Given the description of an element on the screen output the (x, y) to click on. 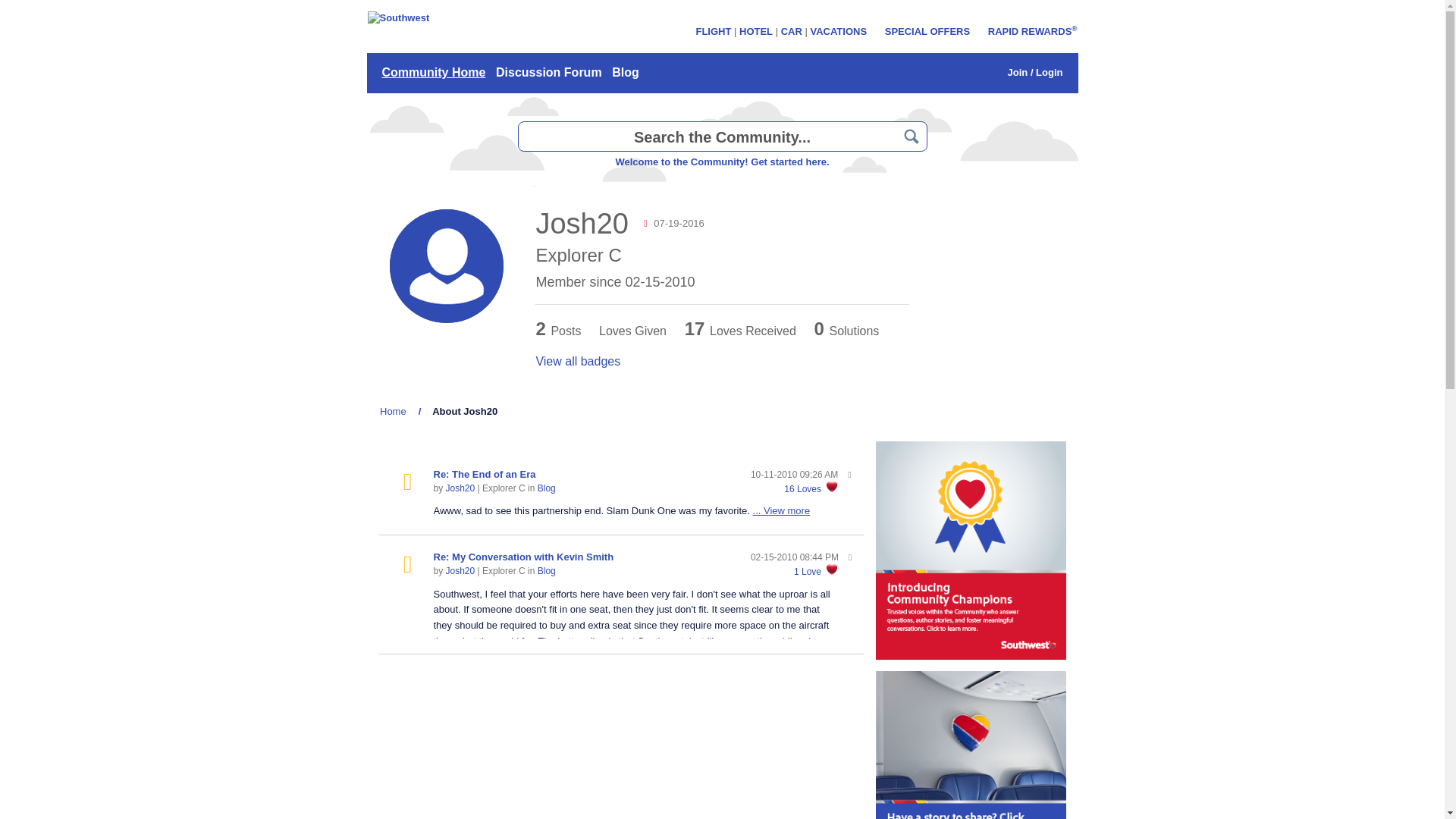
Search (911, 136)
... View more (781, 510)
VACATIONS (837, 30)
Home (393, 410)
Blog (546, 570)
Search (911, 136)
Re: My Conversation with Kevin Smith (523, 556)
Josh20 (460, 488)
Blog Post Blog Post (407, 482)
Blog (546, 488)
